Given the description of an element on the screen output the (x, y) to click on. 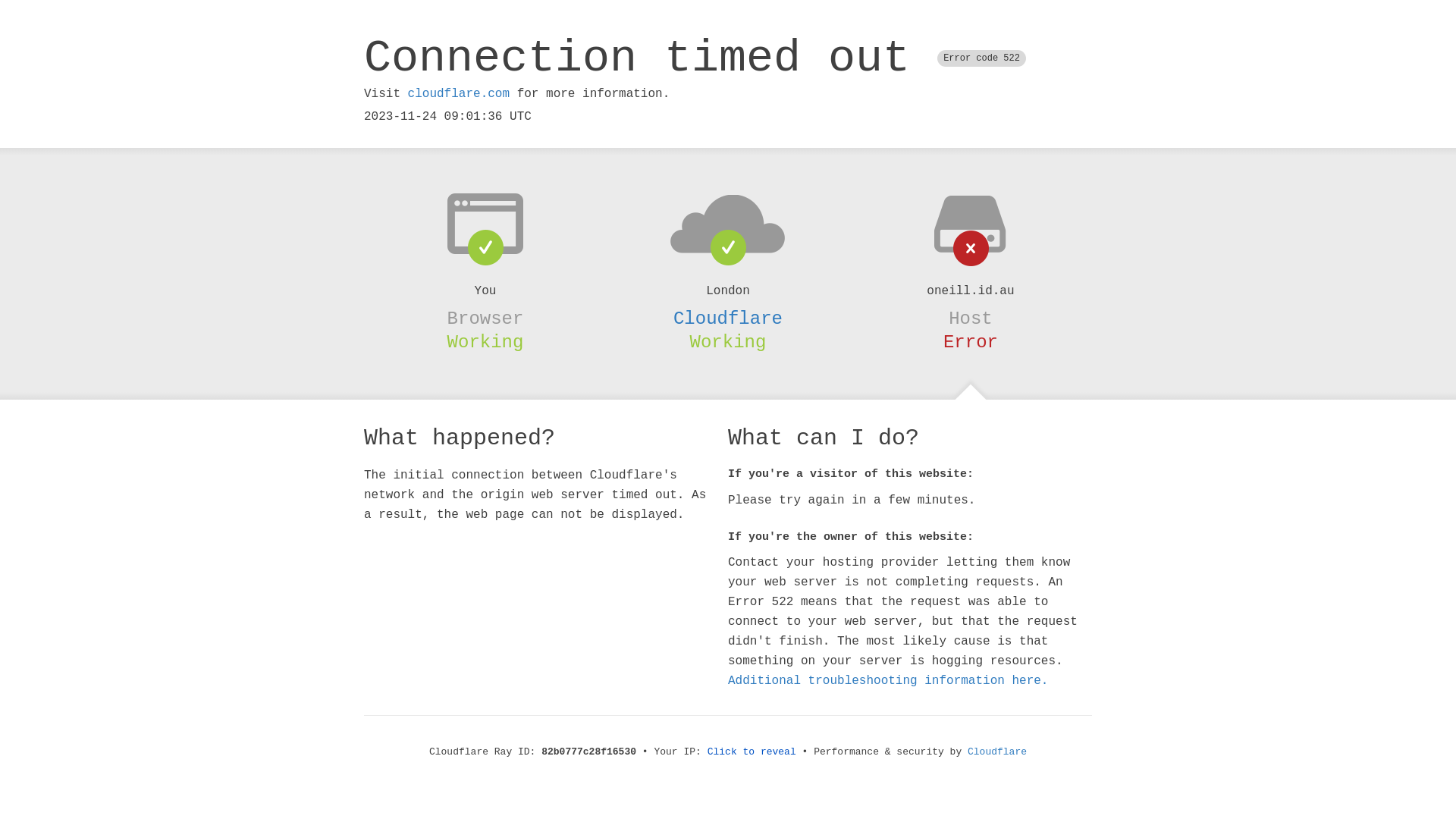
Additional troubleshooting information here. Element type: text (888, 680)
Cloudflare Element type: text (727, 318)
Cloudflare Element type: text (996, 751)
Click to reveal Element type: text (751, 751)
cloudflare.com Element type: text (458, 93)
